Given the description of an element on the screen output the (x, y) to click on. 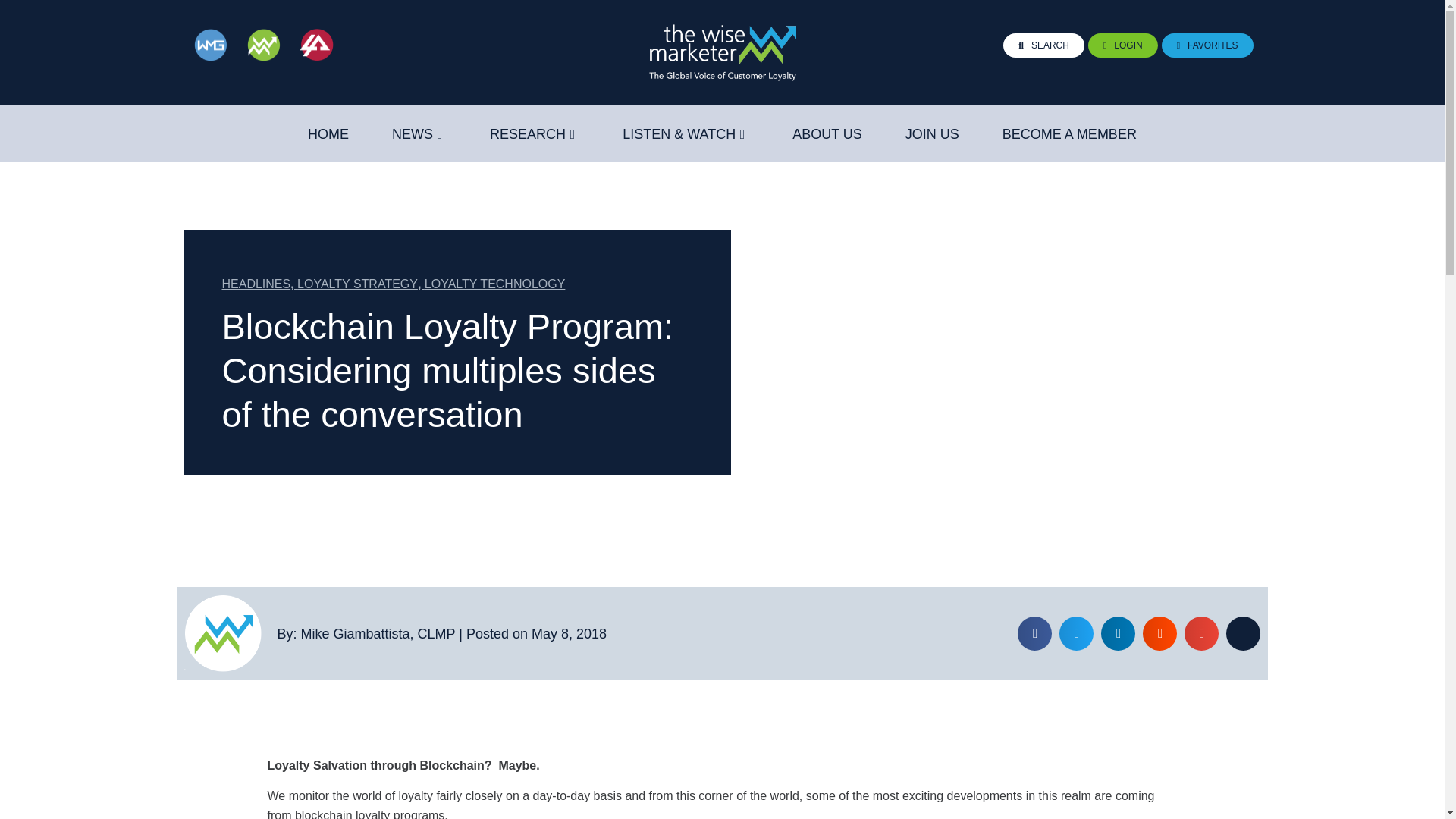
HOME (328, 134)
LOGIN (1122, 45)
BECOME A MEMBER (1070, 134)
JOIN US (932, 134)
NEWS (411, 134)
ABOUT US (826, 134)
FAVORITES (1207, 45)
RESEARCH (527, 134)
WM Circle Logo (222, 633)
SEARCH (1043, 45)
